Given the description of an element on the screen output the (x, y) to click on. 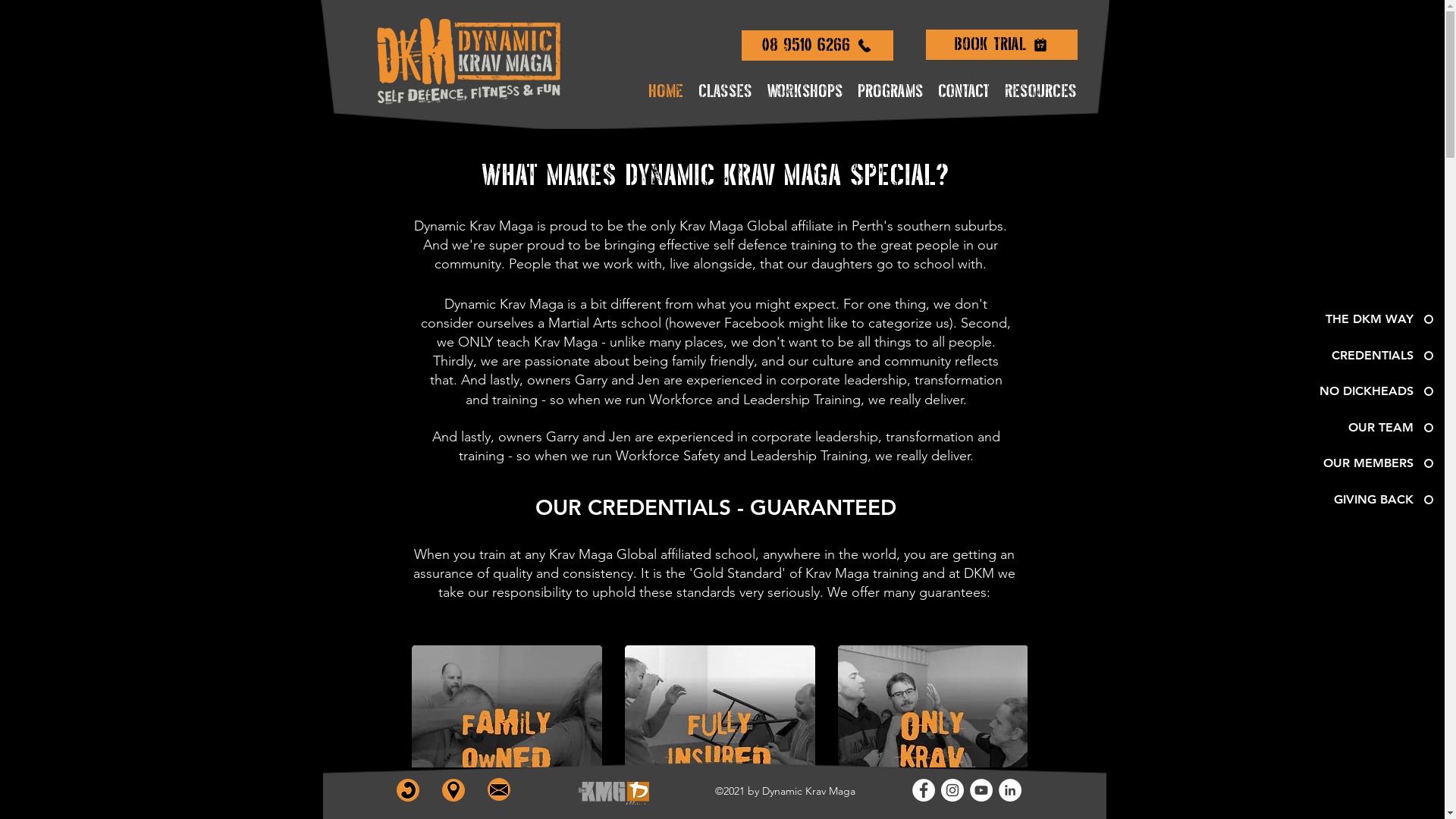
PROGRAMS Element type: text (889, 91)
OUR TEAM Element type: text (1359, 427)
SEE ALLKMG SCHOOLS IN AUSTRALIA Element type: hover (612, 792)
OUR MEMBERS Element type: text (1359, 463)
CLASSES Element type: text (724, 91)
NO DICKHEADS Element type: text (1359, 390)
CONTACT Element type: text (962, 91)
BOOK TRIAL Element type: text (1000, 44)
08 9510 6266 Element type: text (817, 45)
WORKSHOPS Element type: text (804, 91)
THE DKM WAY Element type: text (1359, 318)
GIVING BACK Element type: text (1359, 499)
RESOURCES Element type: text (1039, 91)
HOME Element type: text (665, 91)
CREDENTIALS Element type: text (1359, 355)
